Given the description of an element on the screen output the (x, y) to click on. 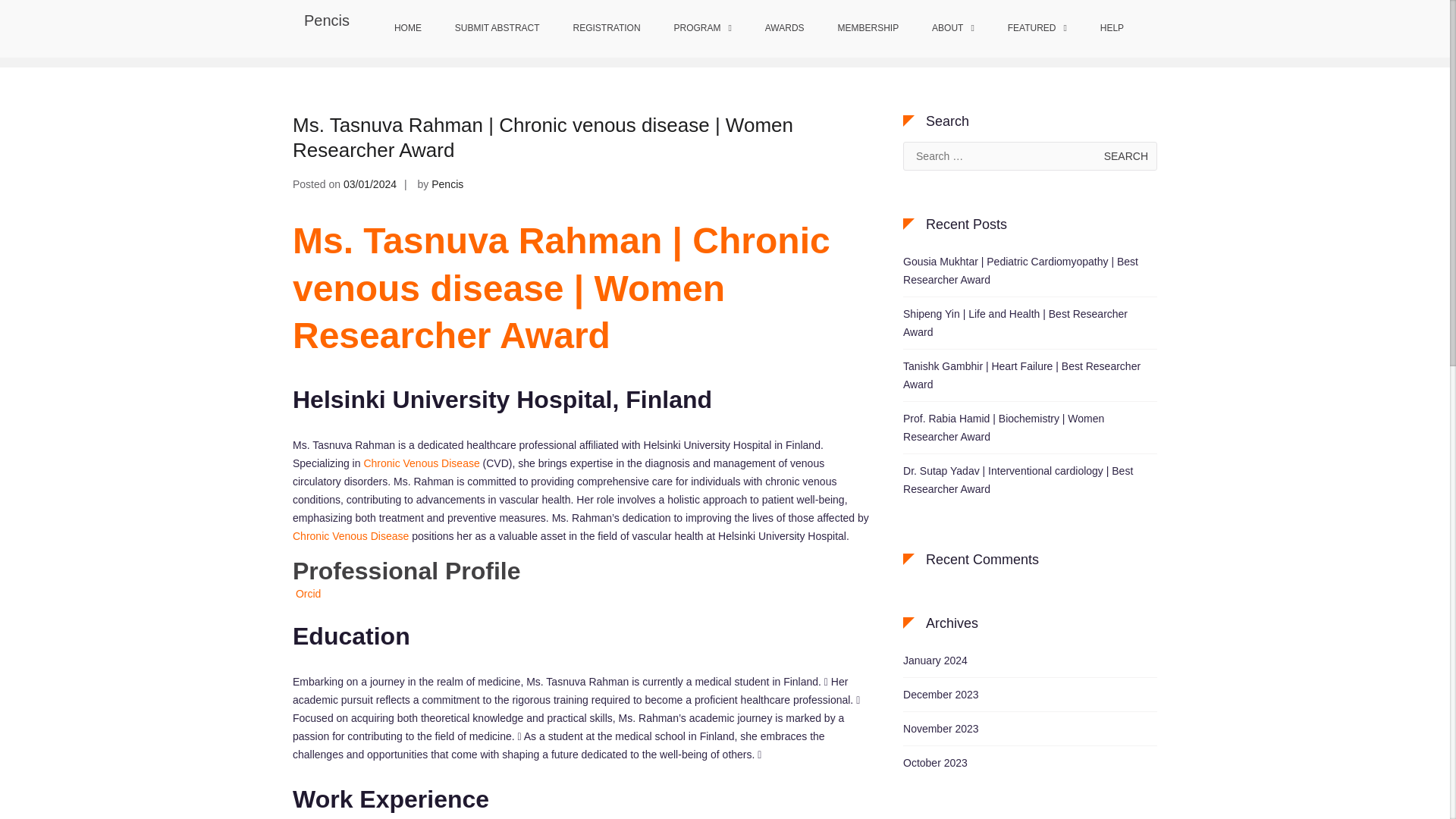
Search (1125, 155)
HELP (1111, 28)
MEMBERSHIP (868, 28)
FEATURED (1036, 28)
Pencis (326, 20)
Home (921, 29)
HOME (407, 28)
Chronic Venous Disease (350, 535)
ABOUT (953, 28)
SUBMIT ABSTRACT (496, 28)
AWARDS (784, 28)
 Orcid (306, 593)
Home (921, 29)
Chronic Venous Disease (420, 463)
Search (1125, 155)
